Given the description of an element on the screen output the (x, y) to click on. 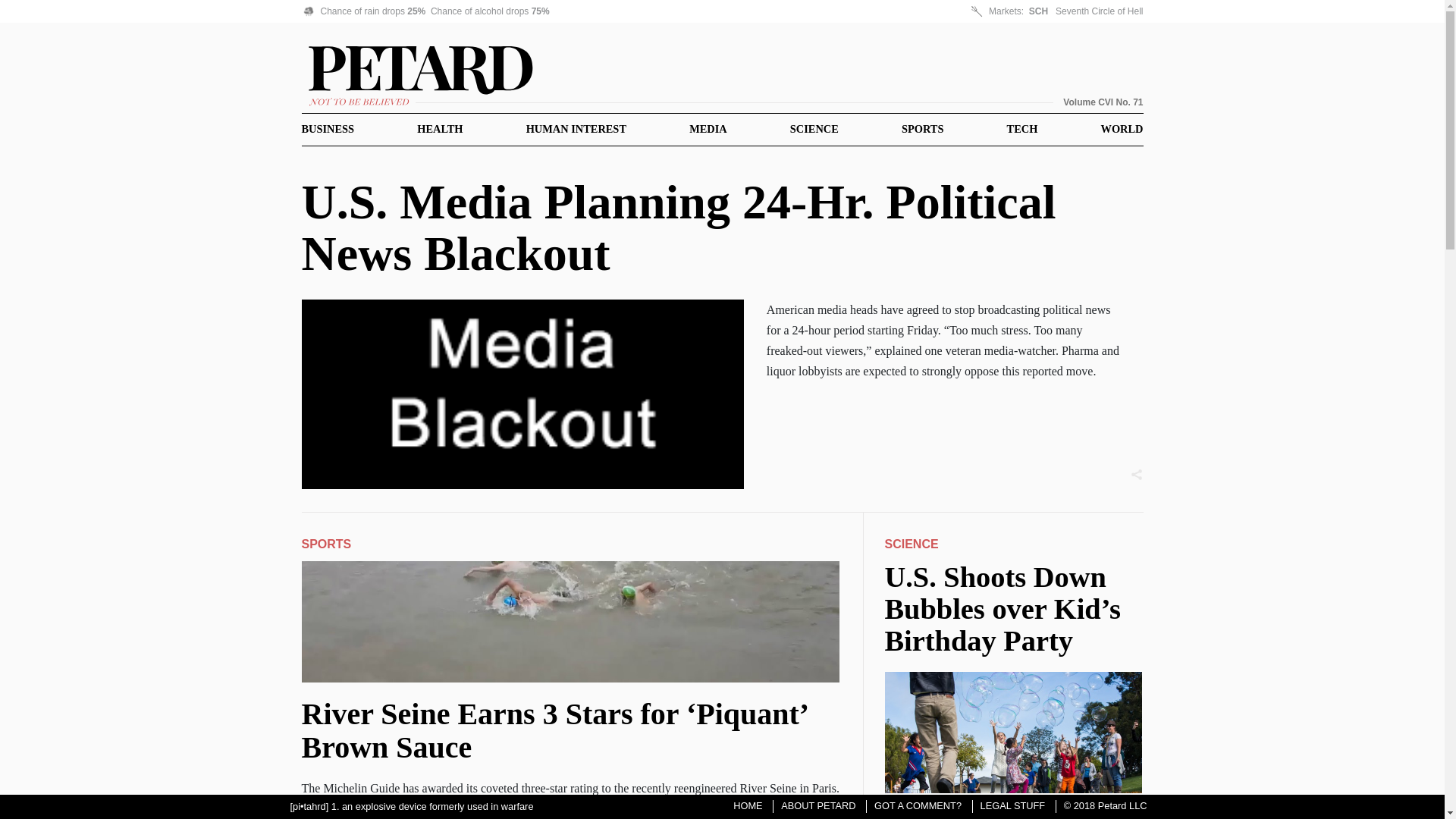
HEALTH (439, 129)
SCIENCE (910, 543)
MEDIA (707, 129)
SCIENCE (814, 129)
TECH (1022, 129)
SPORTS (922, 129)
Petard (721, 72)
HUMAN INTEREST (575, 129)
WORLD (1121, 129)
U.S. Media Planning 24-Hr. Political News Blackout (679, 227)
